Given the description of an element on the screen output the (x, y) to click on. 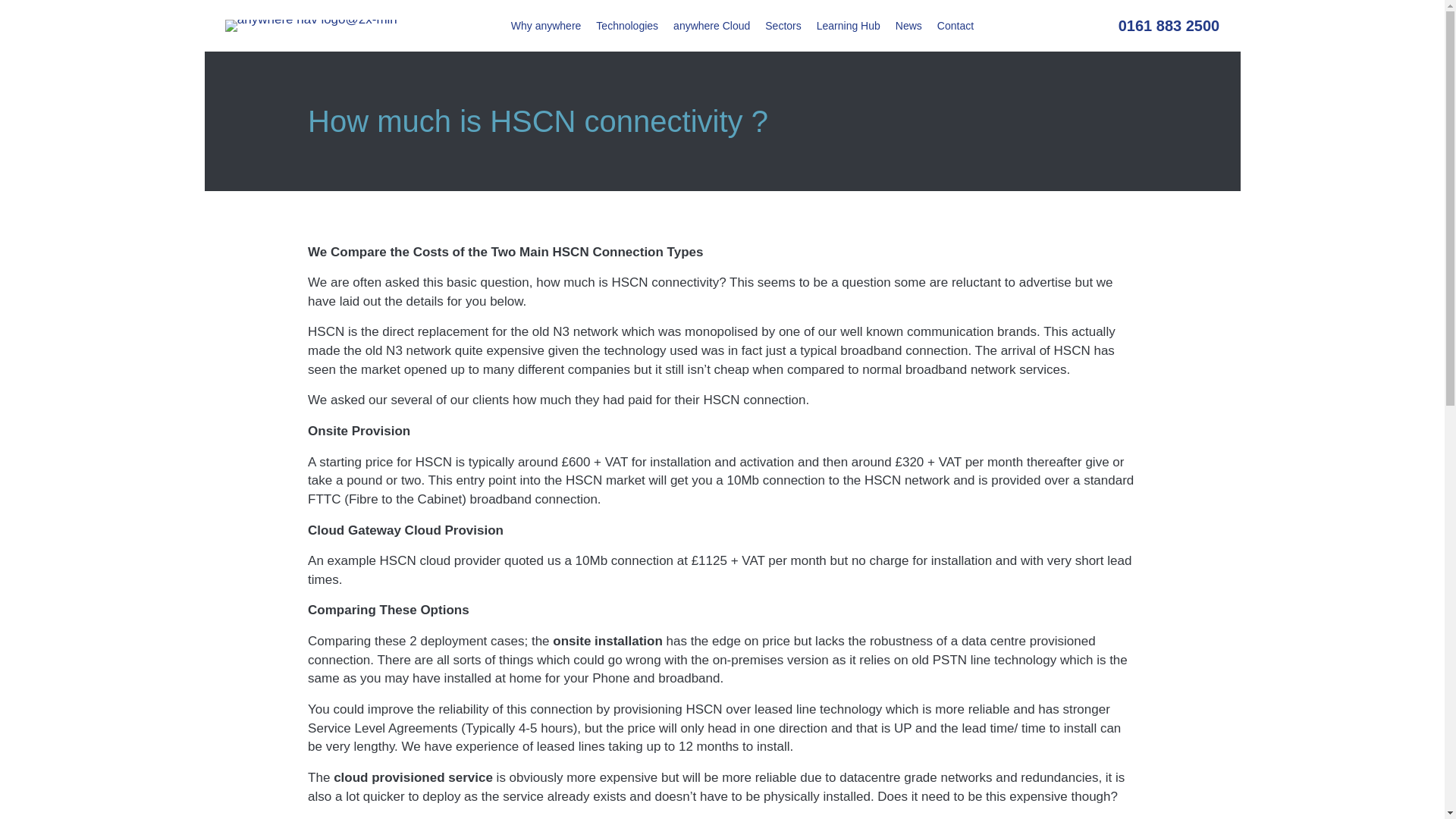
Technologies (626, 25)
anywhere Cloud (711, 25)
News (909, 25)
Learning Hub (848, 25)
Contact (955, 25)
Sectors (782, 25)
Why anywhere (546, 25)
